Given the description of an element on the screen output the (x, y) to click on. 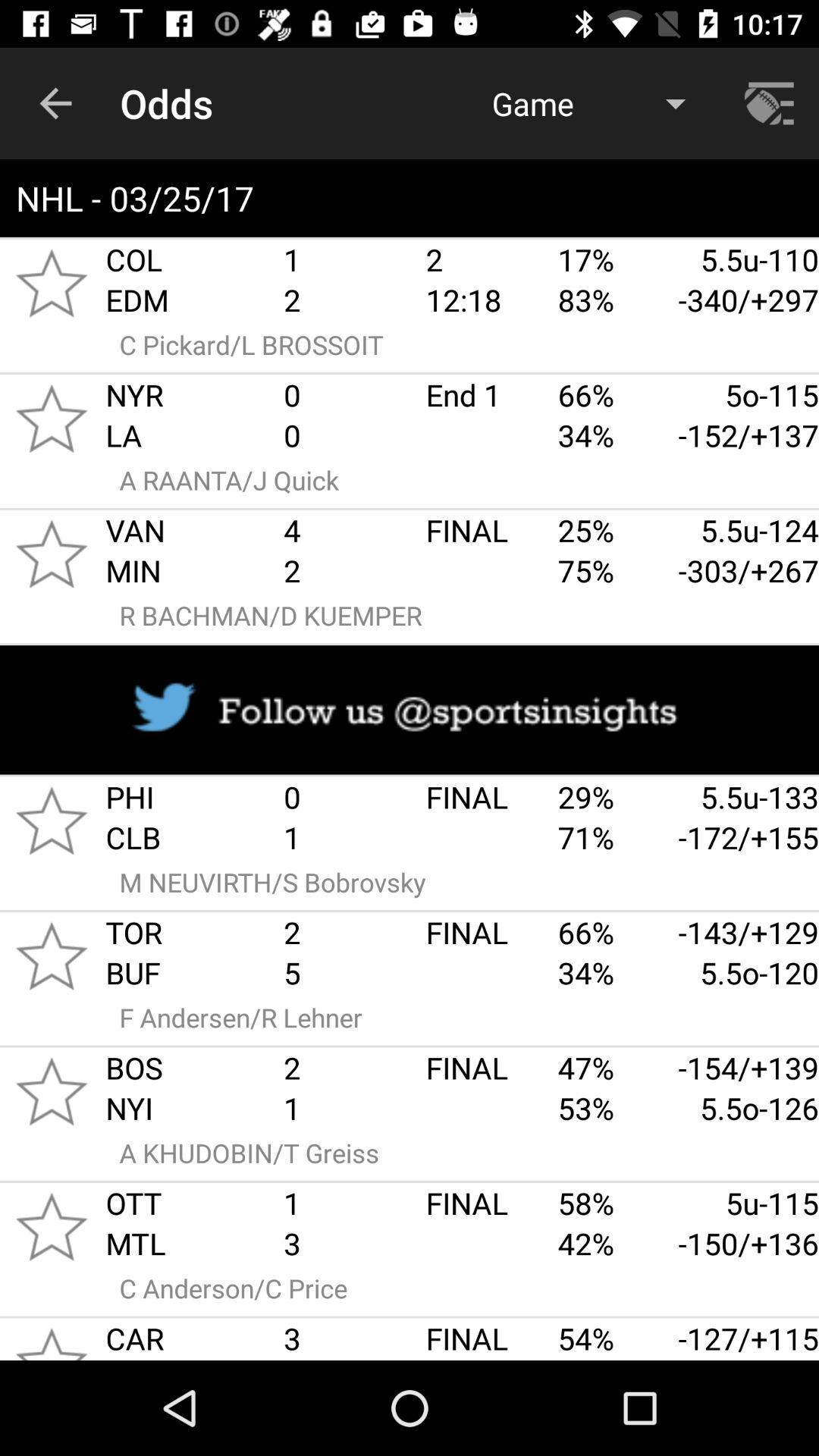
go to rating (51, 820)
